Given the description of an element on the screen output the (x, y) to click on. 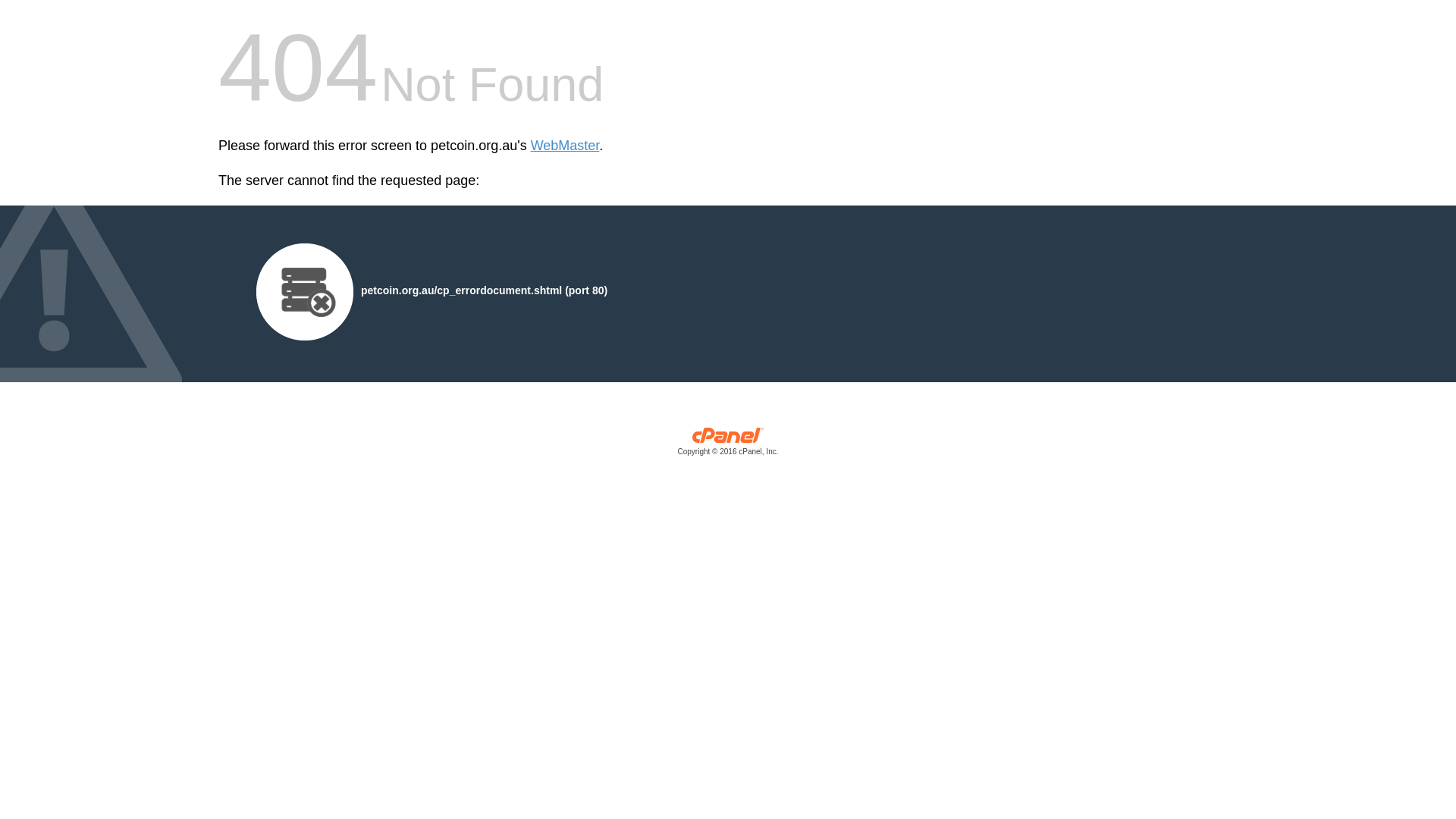
WebMaster Element type: text (564, 145)
